Given the description of an element on the screen output the (x, y) to click on. 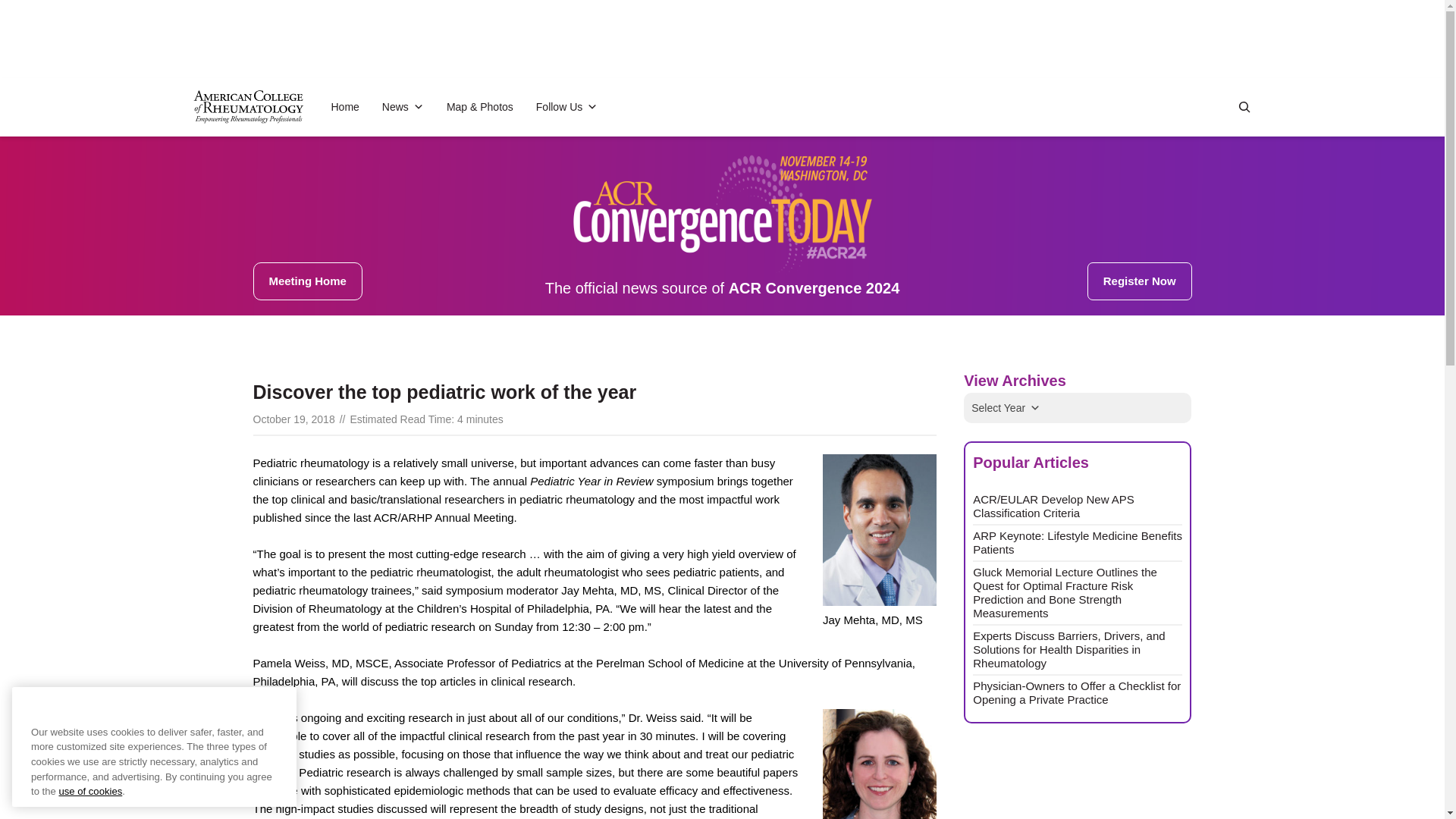
News (402, 106)
Follow Us (566, 106)
Home (344, 106)
